Given the description of an element on the screen output the (x, y) to click on. 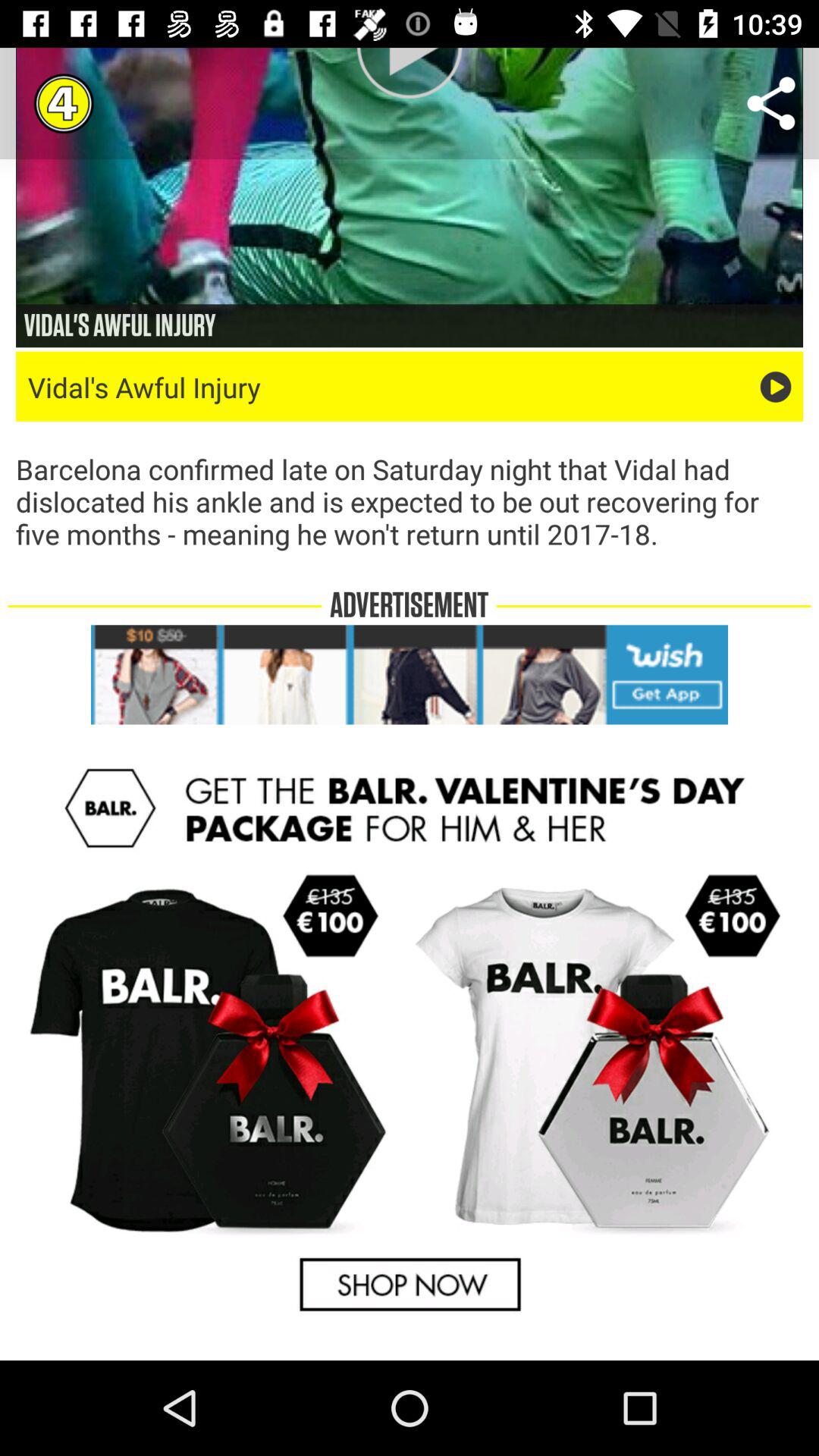
click on the advertisement (409, 674)
